Given the description of an element on the screen output the (x, y) to click on. 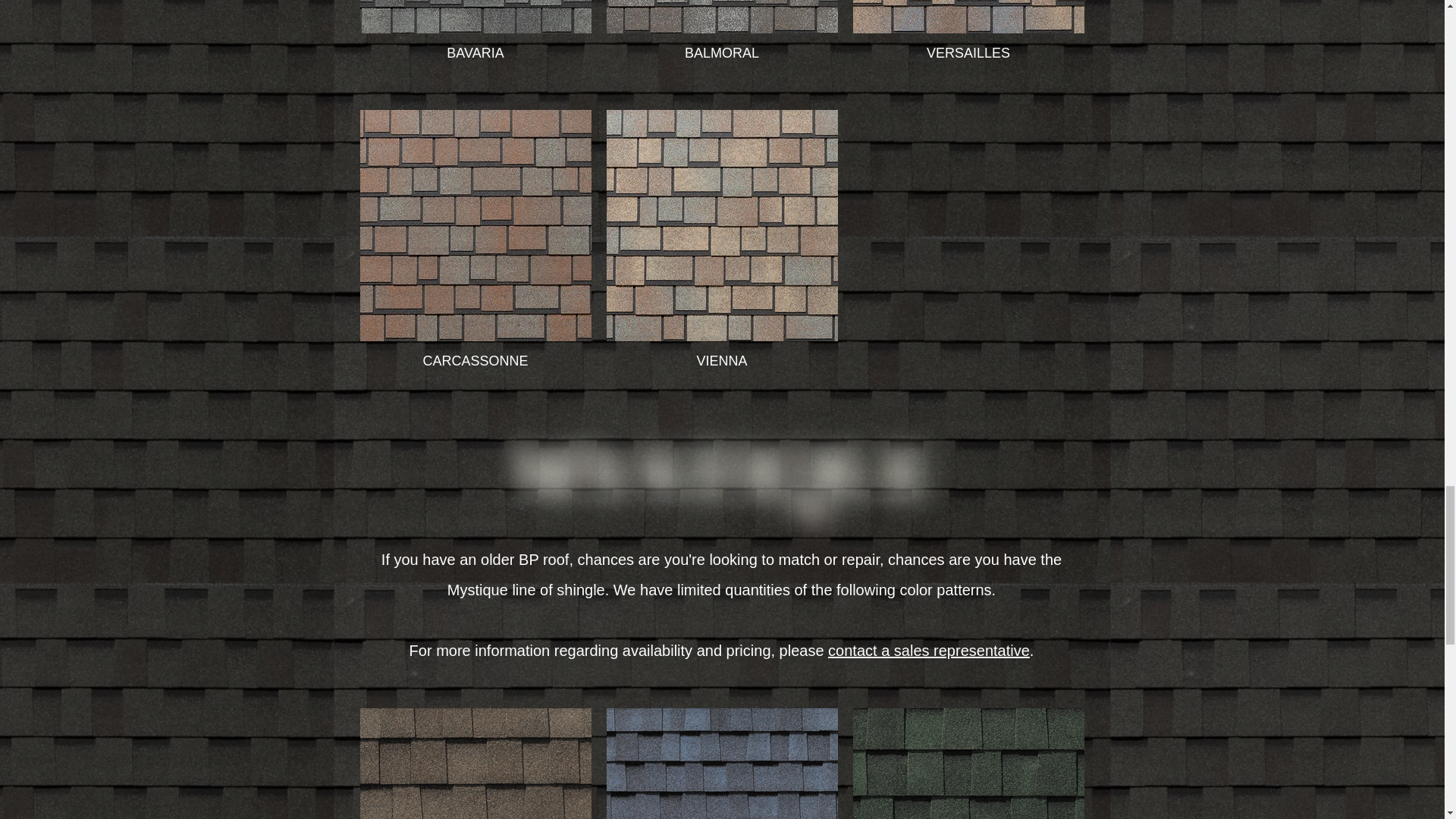
contact a sales representative (928, 650)
